Given the description of an element on the screen output the (x, y) to click on. 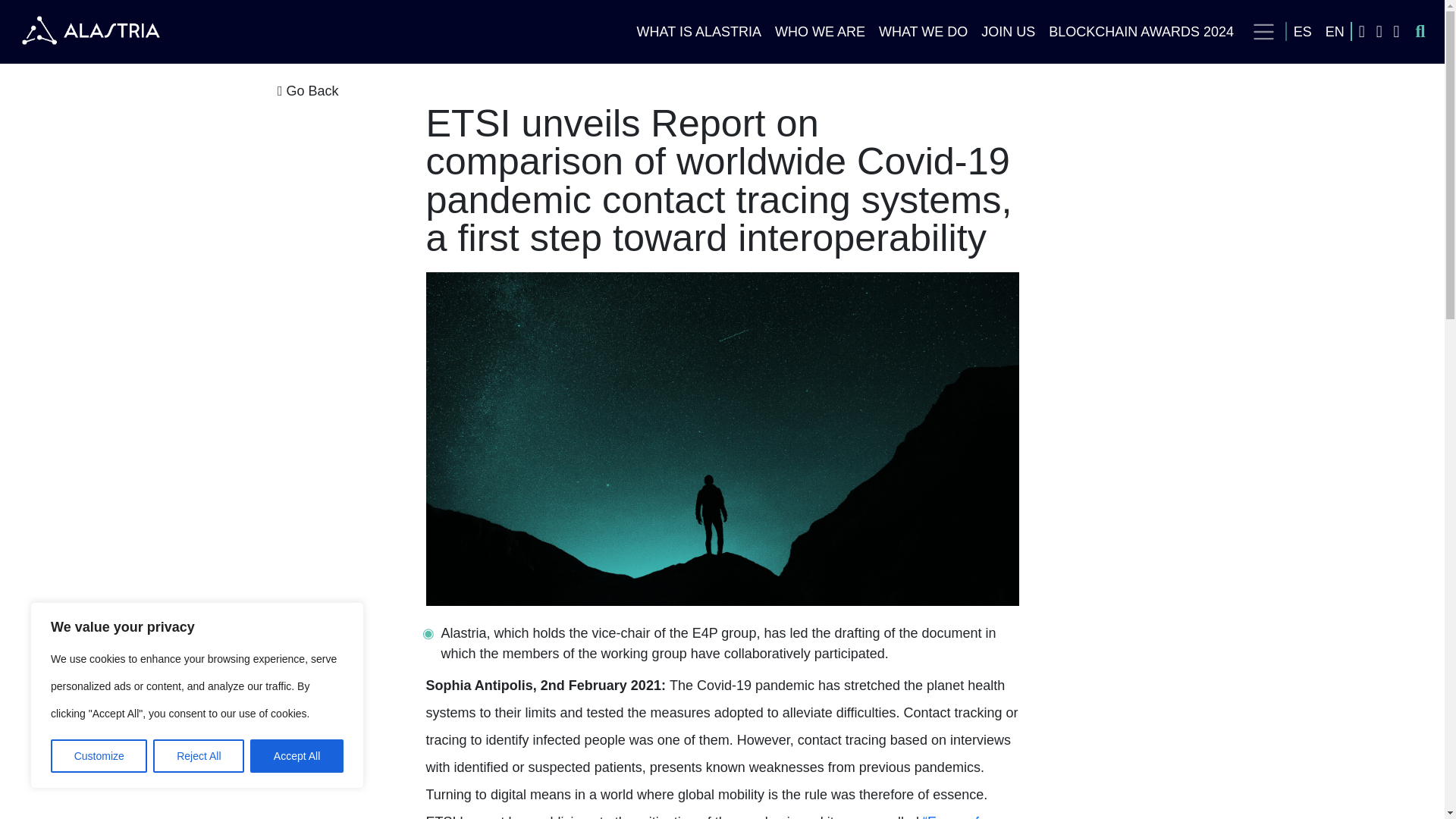
Go Back (722, 90)
Search (1397, 31)
Reject All (198, 756)
WHO WE ARE (820, 31)
EN (1335, 31)
WHAT IS ALASTRIA (699, 31)
Customize (98, 756)
JOIN US (1008, 31)
Accept All (296, 756)
ES (1303, 31)
BLOCKCHAIN AWARDS 2024 (1141, 31)
WHAT WE DO (923, 31)
